Given the description of an element on the screen output the (x, y) to click on. 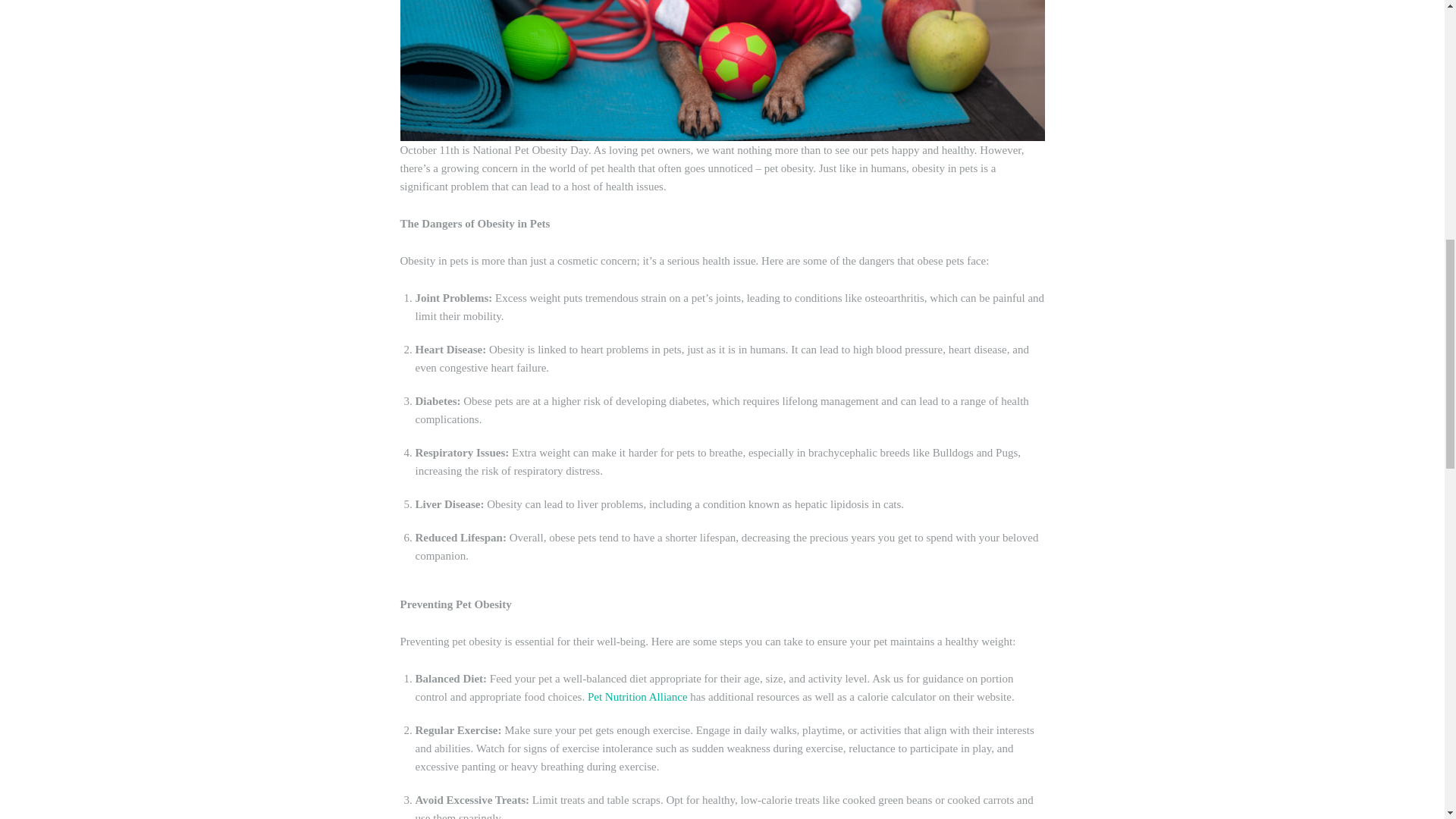
Pet Nutrition Alliance (637, 696)
